Given the description of an element on the screen output the (x, y) to click on. 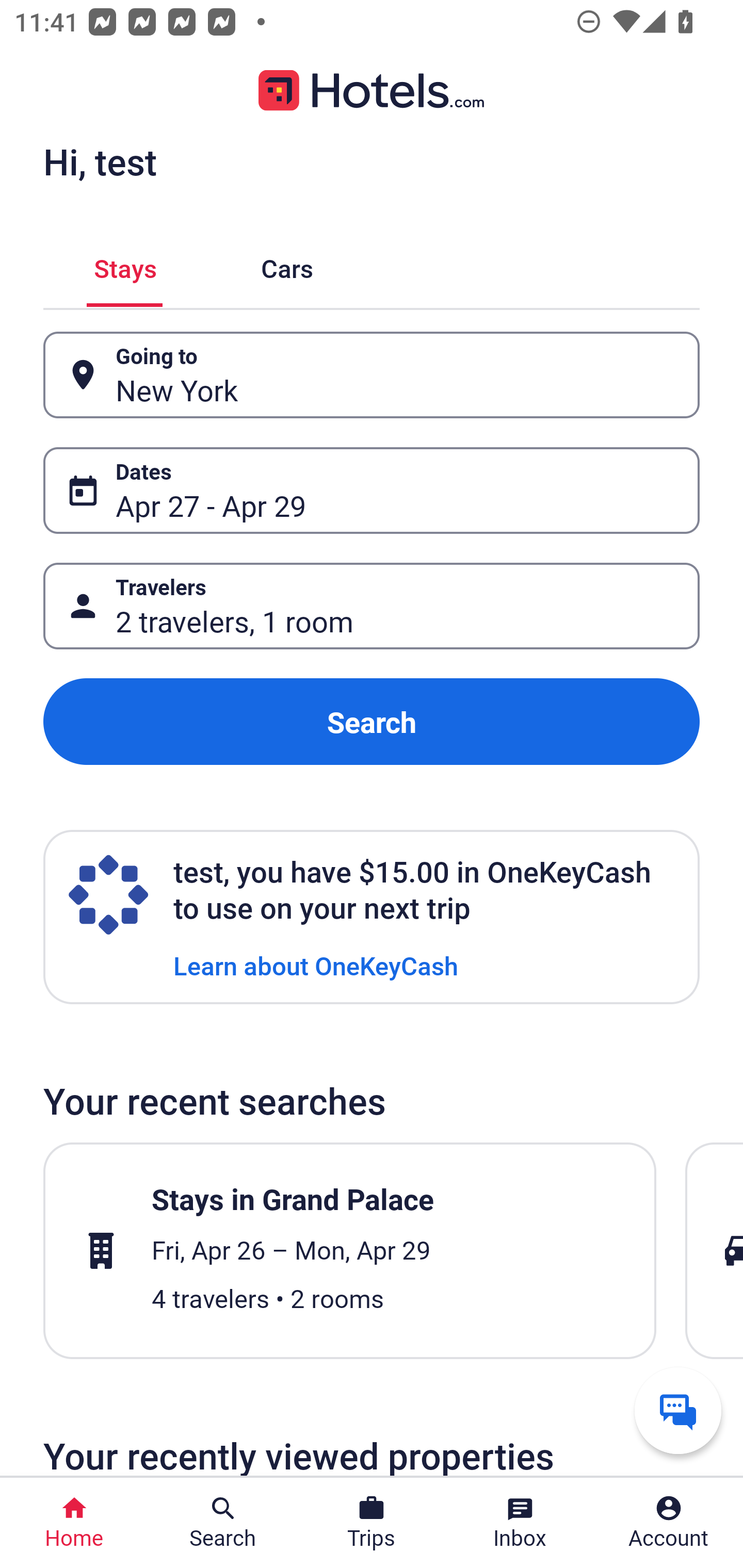
Hi, test (99, 161)
Cars (286, 265)
Going to Button New York (371, 375)
Dates Button Apr 27 - Apr 29 (371, 489)
Travelers Button 2 travelers, 1 room (371, 605)
Search (371, 721)
Learn about OneKeyCash Learn about OneKeyCash Link (315, 964)
Get help from a virtual agent (677, 1410)
Search Search Button (222, 1522)
Trips Trips Button (371, 1522)
Inbox Inbox Button (519, 1522)
Account Profile. Button (668, 1522)
